Given the description of an element on the screen output the (x, y) to click on. 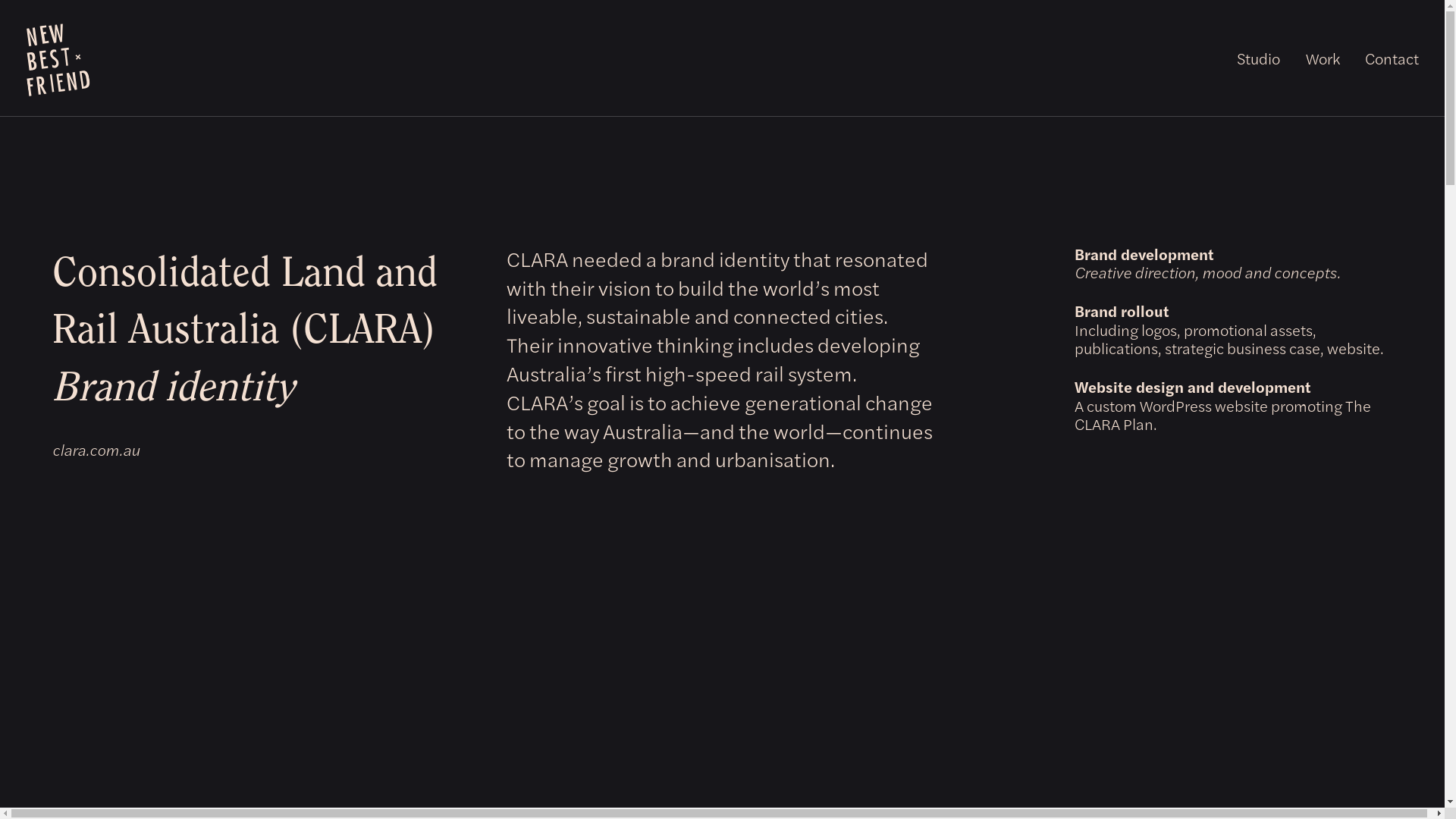
clara.com.au Element type: text (94, 449)
Studio Element type: text (1258, 58)
Contact Element type: text (1391, 58)
Work Element type: text (1322, 58)
New Best Friend Element type: text (55, 58)
